Given the description of an element on the screen output the (x, y) to click on. 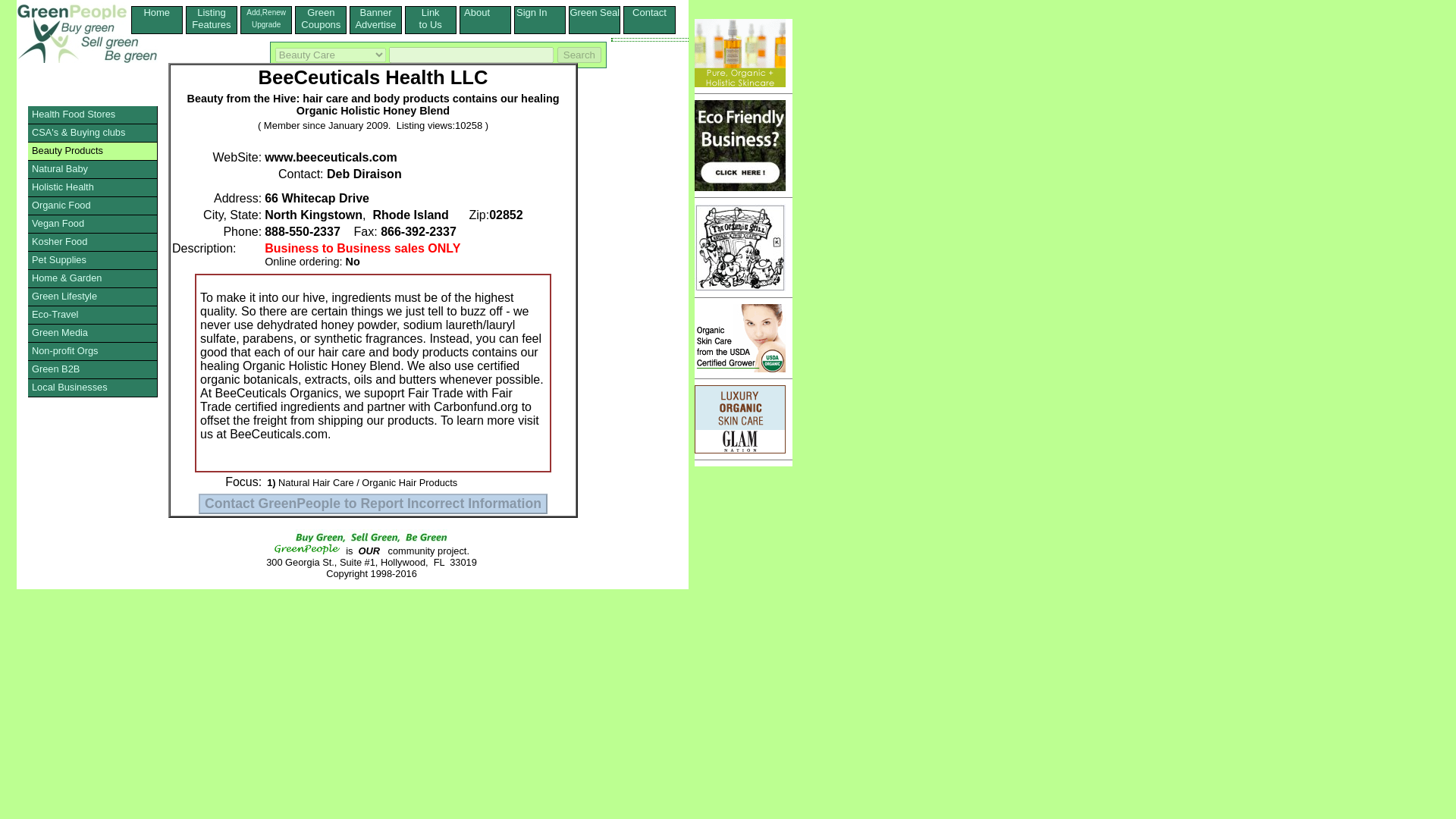
Health Food Stores (92, 115)
Green B2B (92, 370)
Contact GreenPeople to Report Incorrect Information (372, 503)
Green Seal (594, 12)
Organic Food (92, 206)
Beauty Products (92, 151)
Green Lifestyle (92, 297)
Natural Baby (157, 18)
Banner Advertise (92, 169)
Eco-Travel (375, 18)
Vegan Food (92, 315)
Green Seal of Approval (92, 224)
Community Supported Agriculture and Buying Clubs (594, 12)
Sign In       (92, 133)
